Given the description of an element on the screen output the (x, y) to click on. 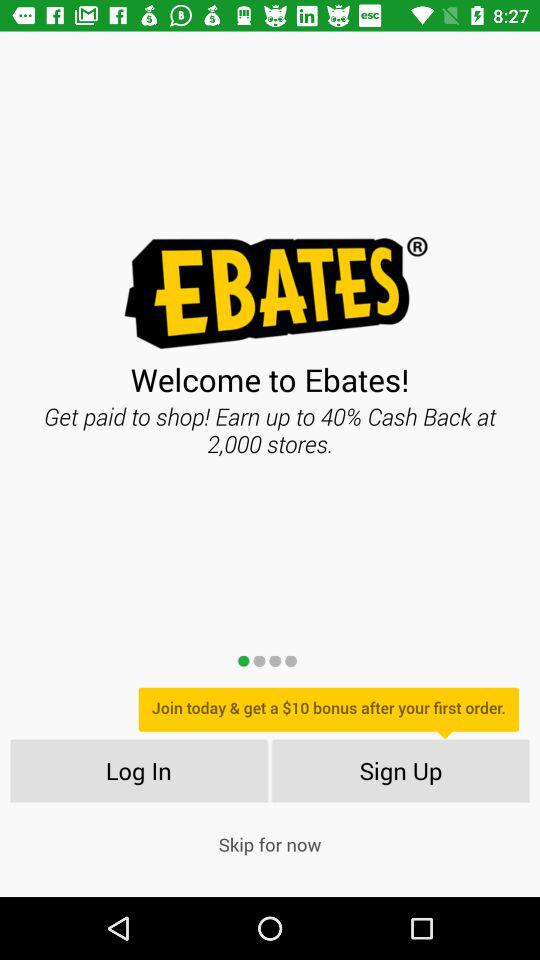
turn on item to the right of log in icon (400, 770)
